Given the description of an element on the screen output the (x, y) to click on. 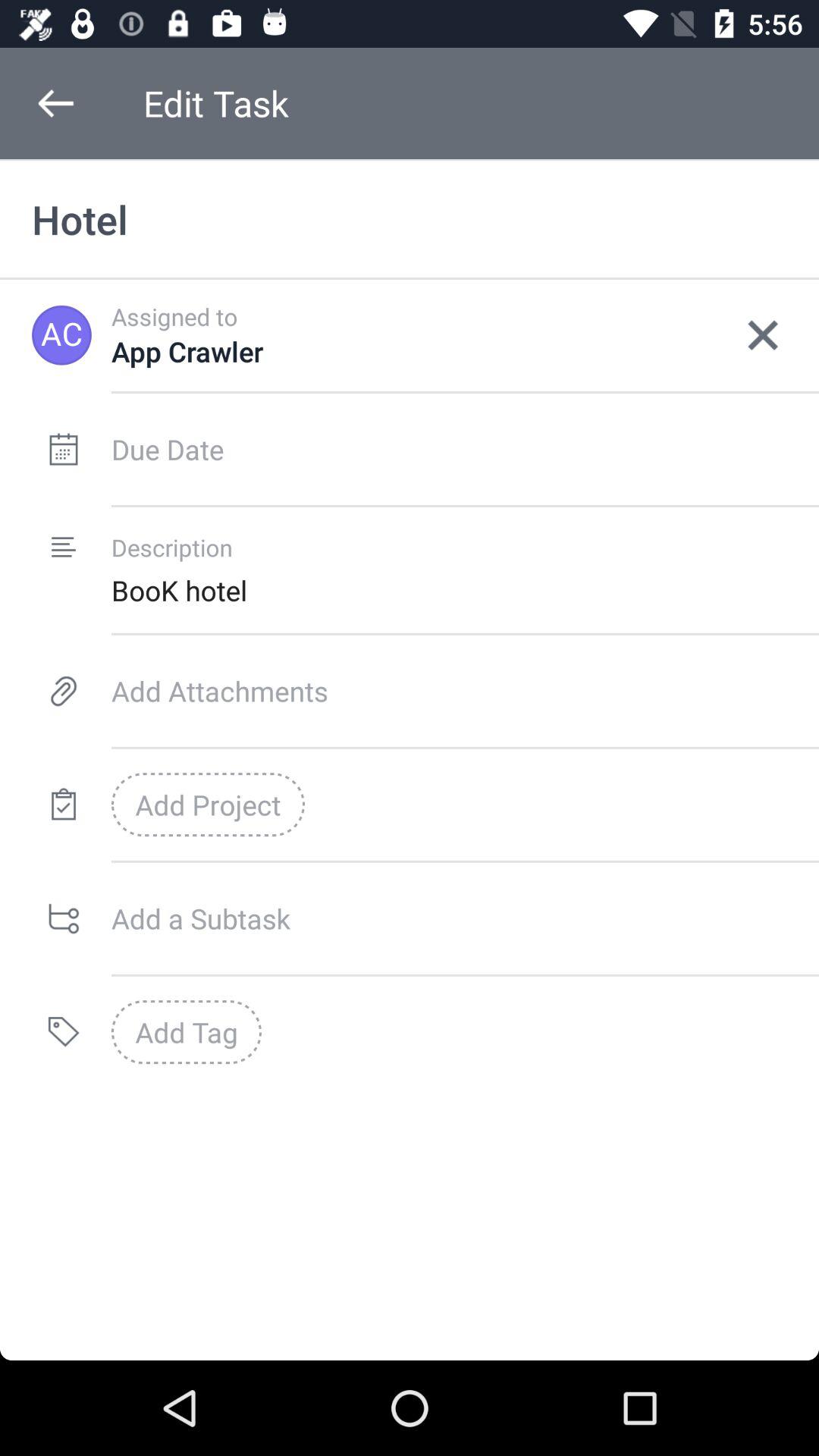
turn on the item at the top right corner (763, 335)
